Given the description of an element on the screen output the (x, y) to click on. 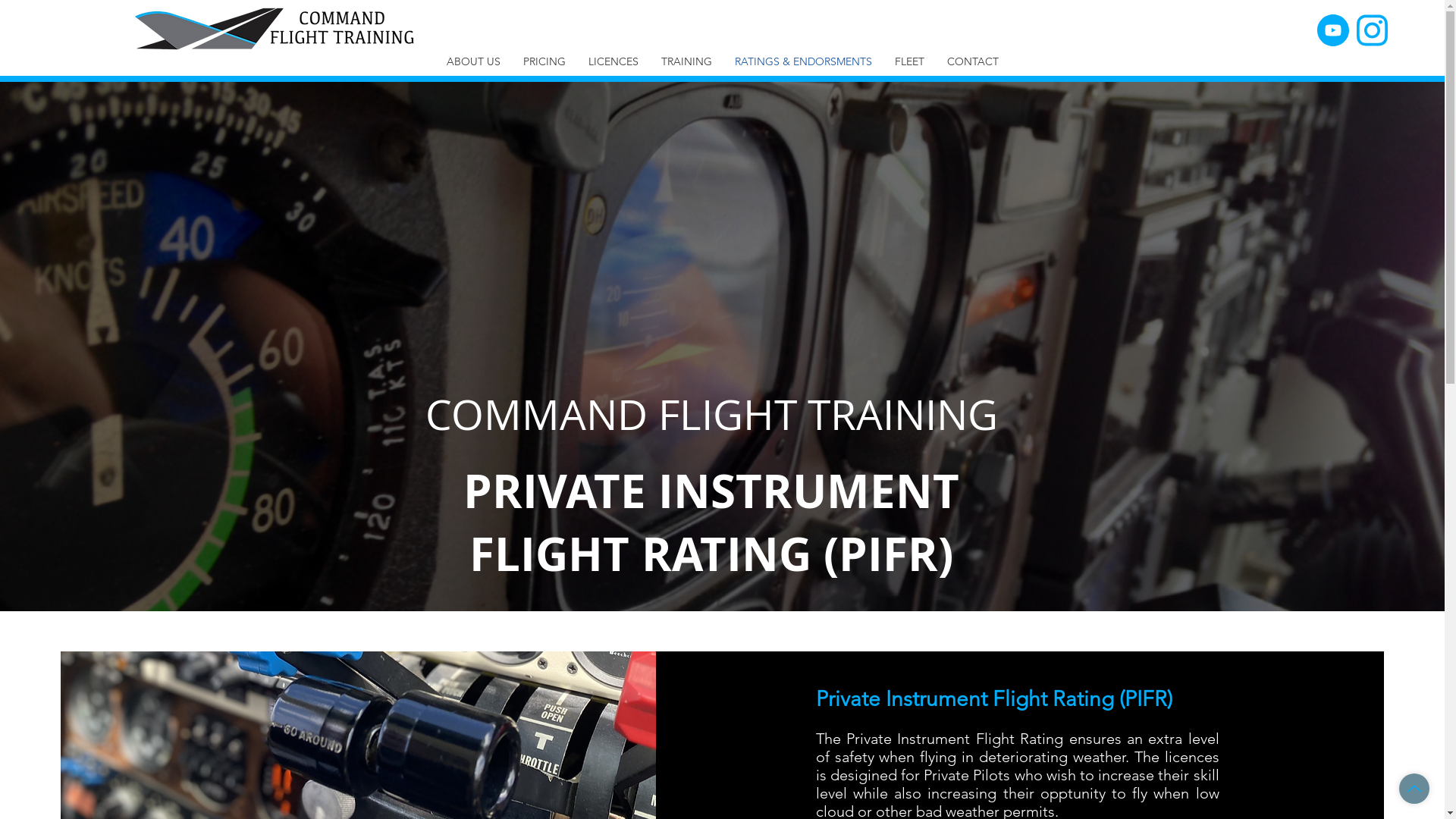
TRAINING Element type: text (685, 61)
LICENCES Element type: text (612, 61)
RATINGS & ENDORSMENTS Element type: text (803, 61)
PRICING Element type: text (543, 61)
ABOUT US Element type: text (473, 61)
FLEET Element type: text (908, 61)
CONTACT Element type: text (972, 61)
